Given the description of an element on the screen output the (x, y) to click on. 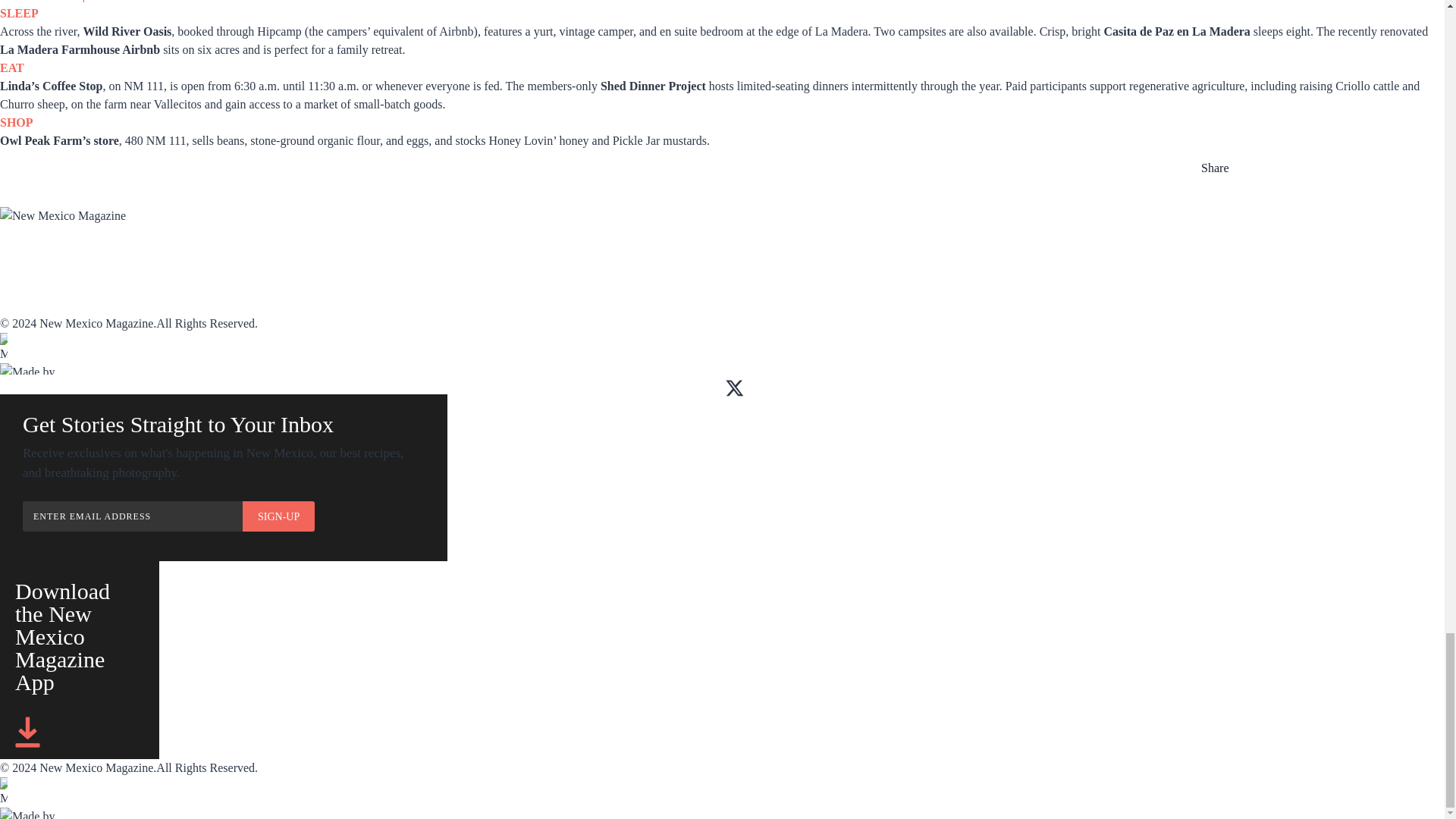
App (154, 254)
Advertise (464, 254)
Sitemap (312, 287)
Contact Us (32, 304)
Subscribe (28, 254)
About Us (25, 287)
Store (598, 254)
Archive (313, 254)
Visit our Twitter page (734, 388)
Privacy Policy (333, 304)
